Given the description of an element on the screen output the (x, y) to click on. 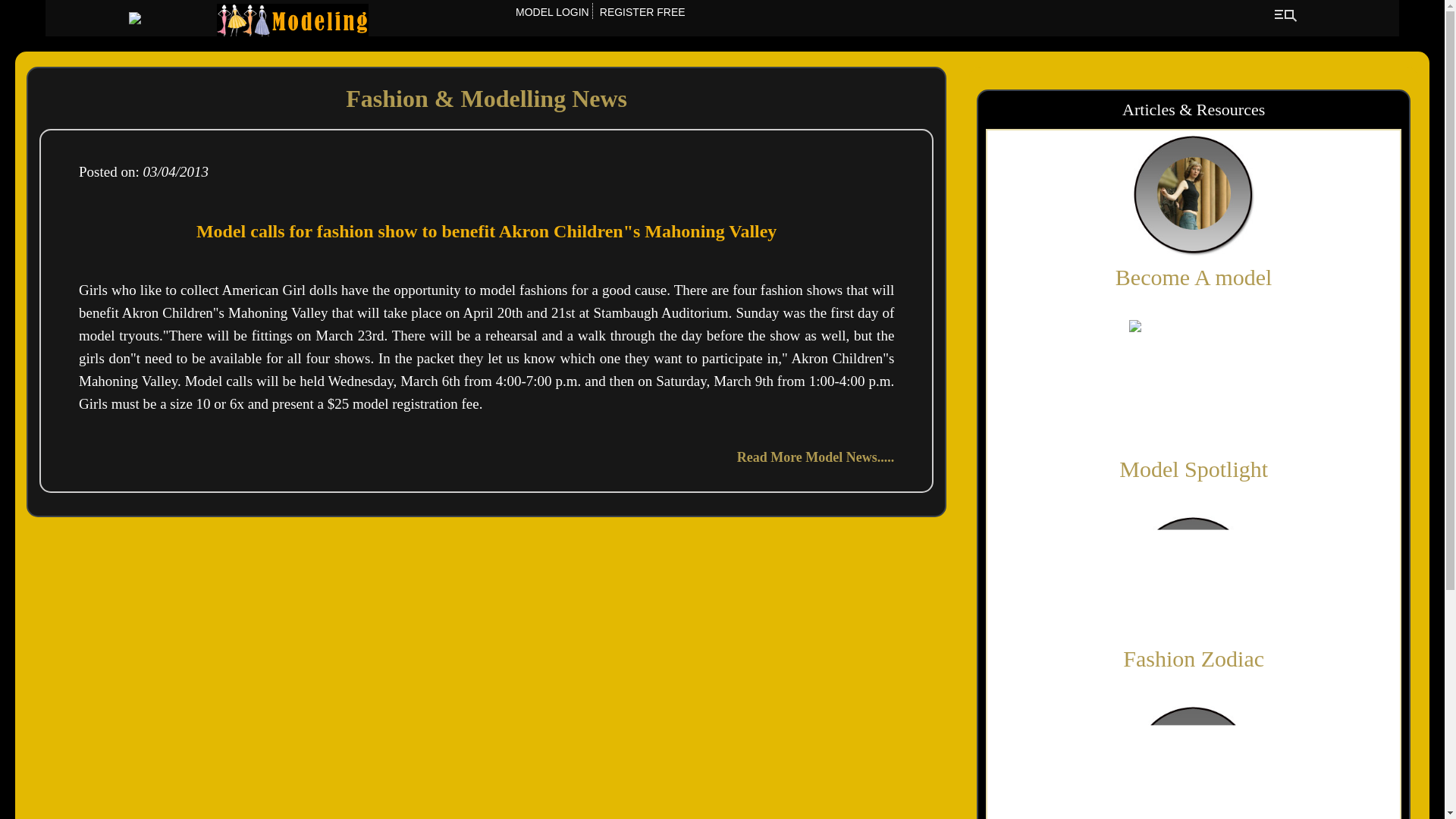
Man (1193, 384)
Man (1193, 760)
Fashion Zodiac (1192, 658)
Read More Model News..... (815, 457)
Man (1193, 574)
MODEL LOGIN (550, 11)
REGISTER FREE (640, 11)
Become A model (1193, 276)
Man (1193, 193)
Model Spotlight (1193, 468)
